Given the description of an element on the screen output the (x, y) to click on. 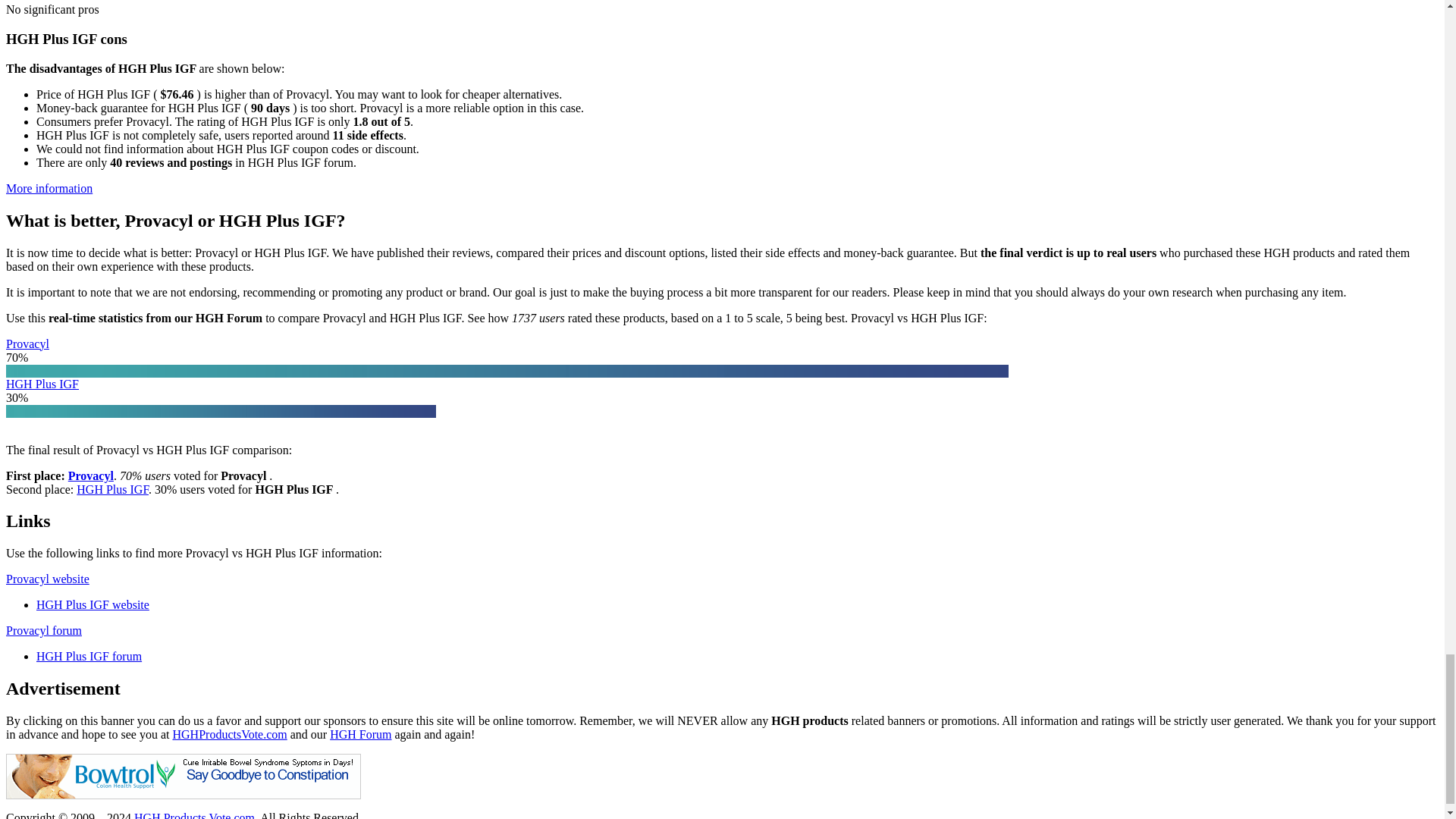
Provacyl (27, 343)
HGH Plus IGF (41, 382)
Provacyl (90, 475)
More information (49, 187)
